Given the description of an element on the screen output the (x, y) to click on. 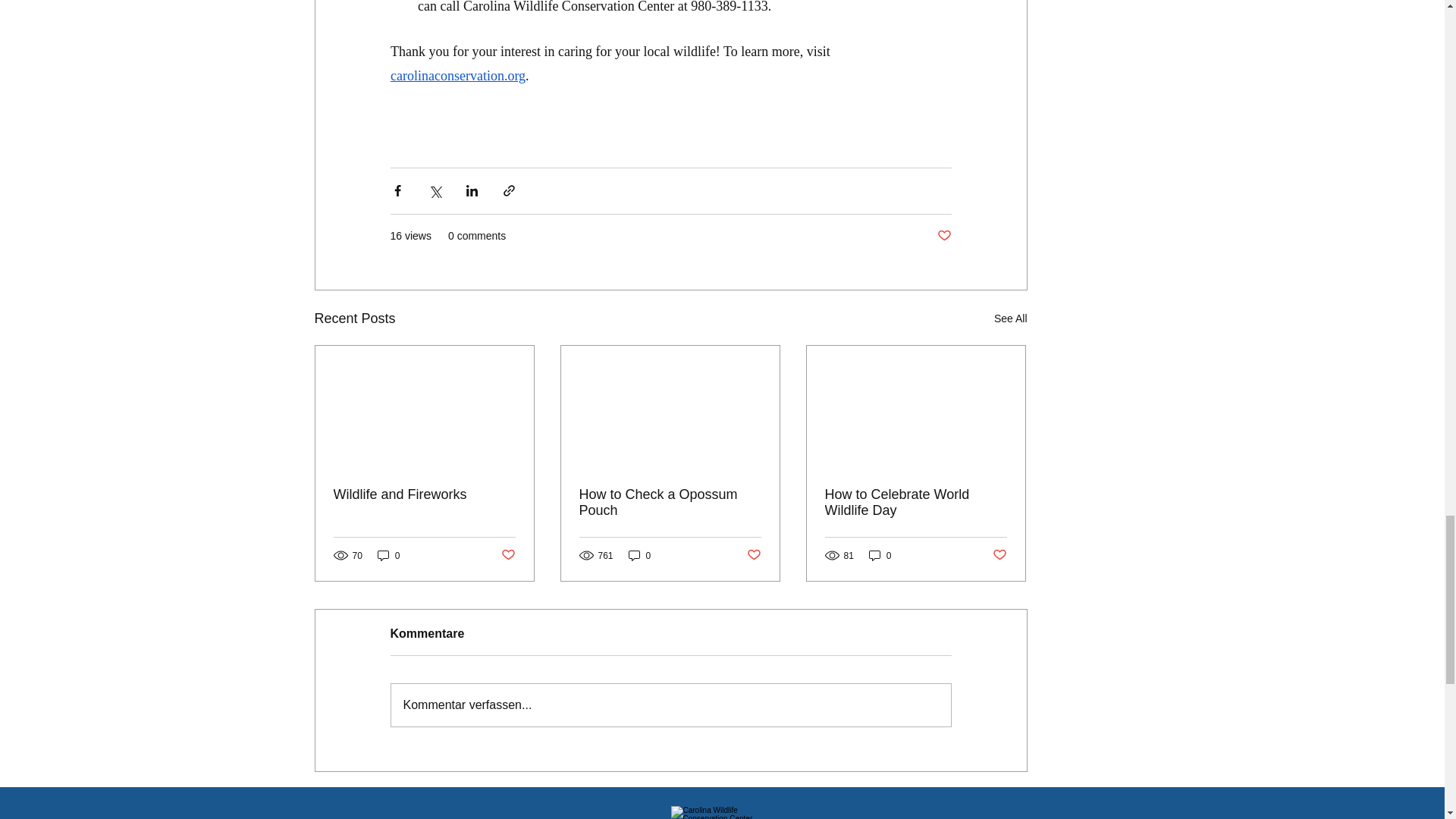
carolinaconservation.org (457, 75)
